Given the description of an element on the screen output the (x, y) to click on. 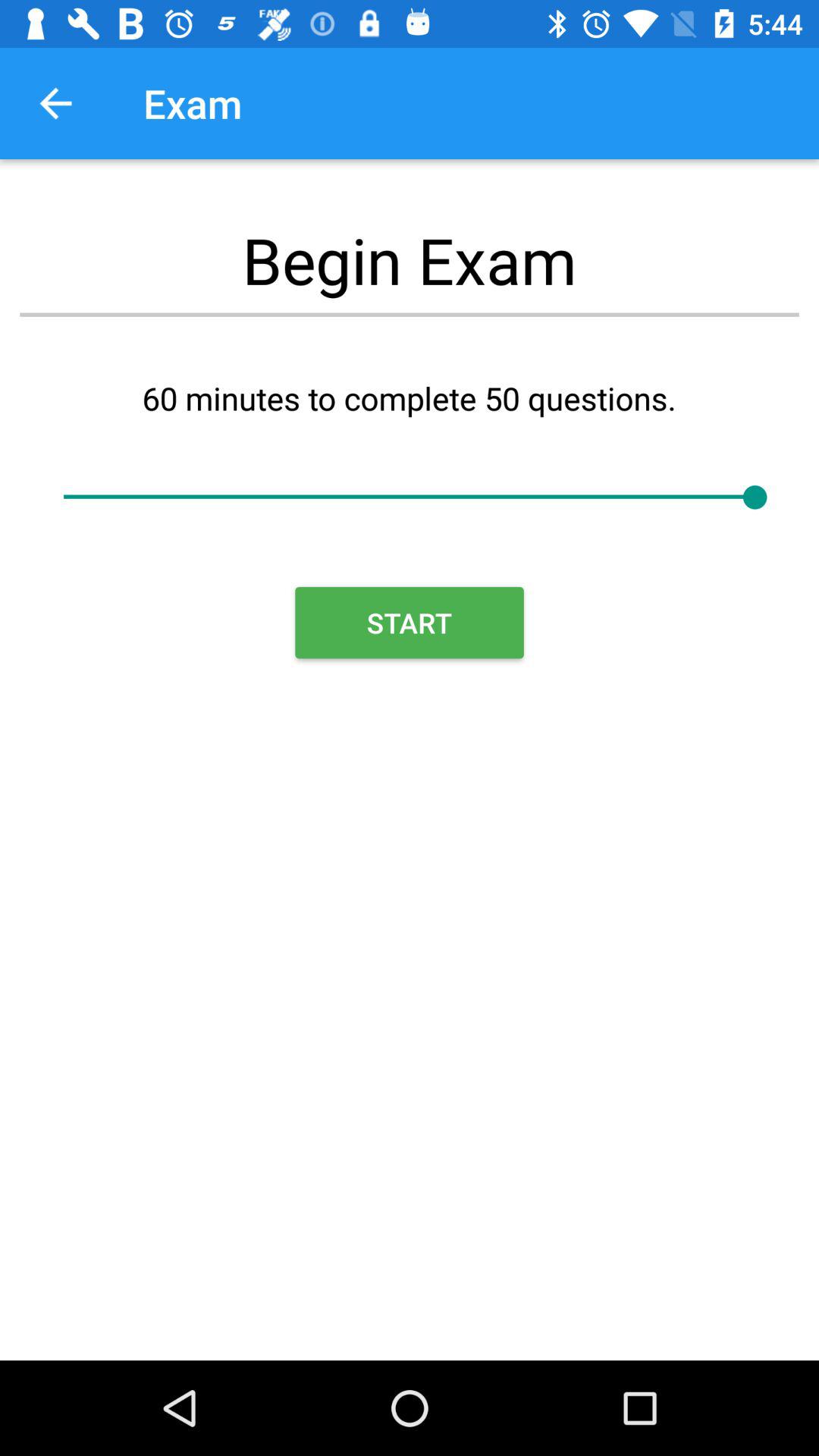
open the icon next to the exam item (55, 103)
